Given the description of an element on the screen output the (x, y) to click on. 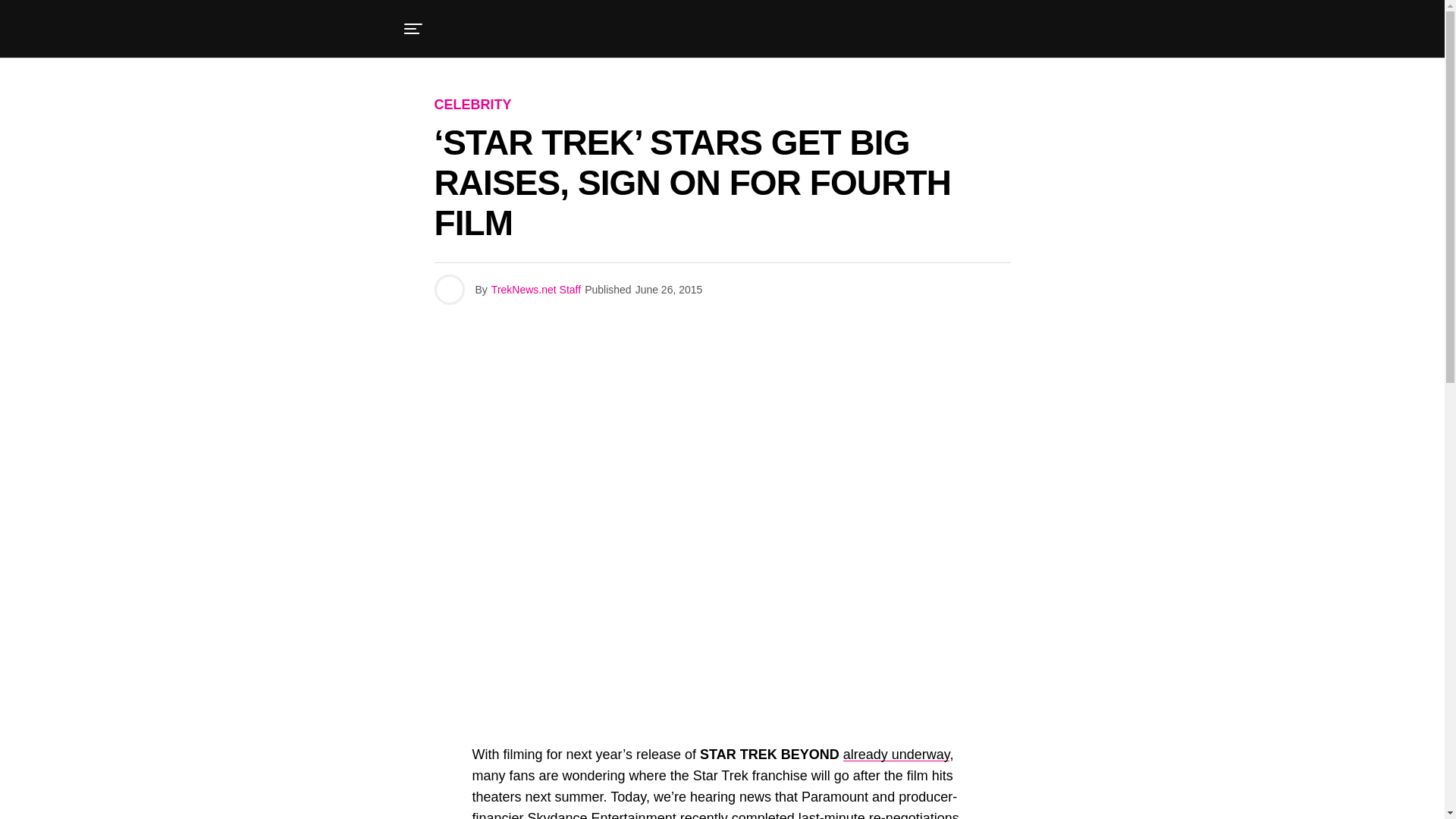
already underway (896, 754)
TrekNews.net Staff (536, 289)
CELEBRITY (472, 104)
Posts by TrekNews.net Staff (536, 289)
